Given the description of an element on the screen output the (x, y) to click on. 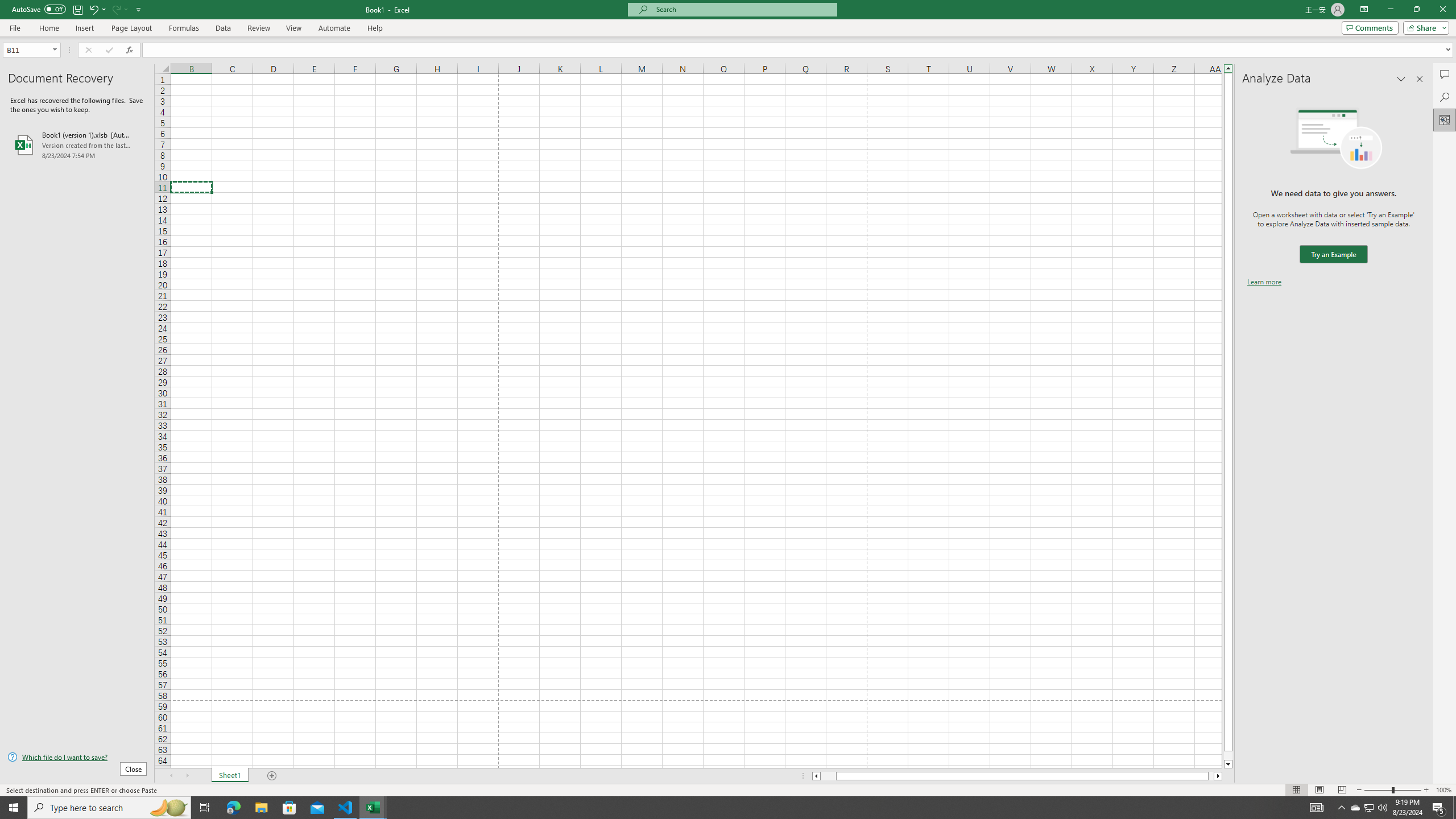
We need data to give you answers. Try an Example (1333, 253)
